Given the description of an element on the screen output the (x, y) to click on. 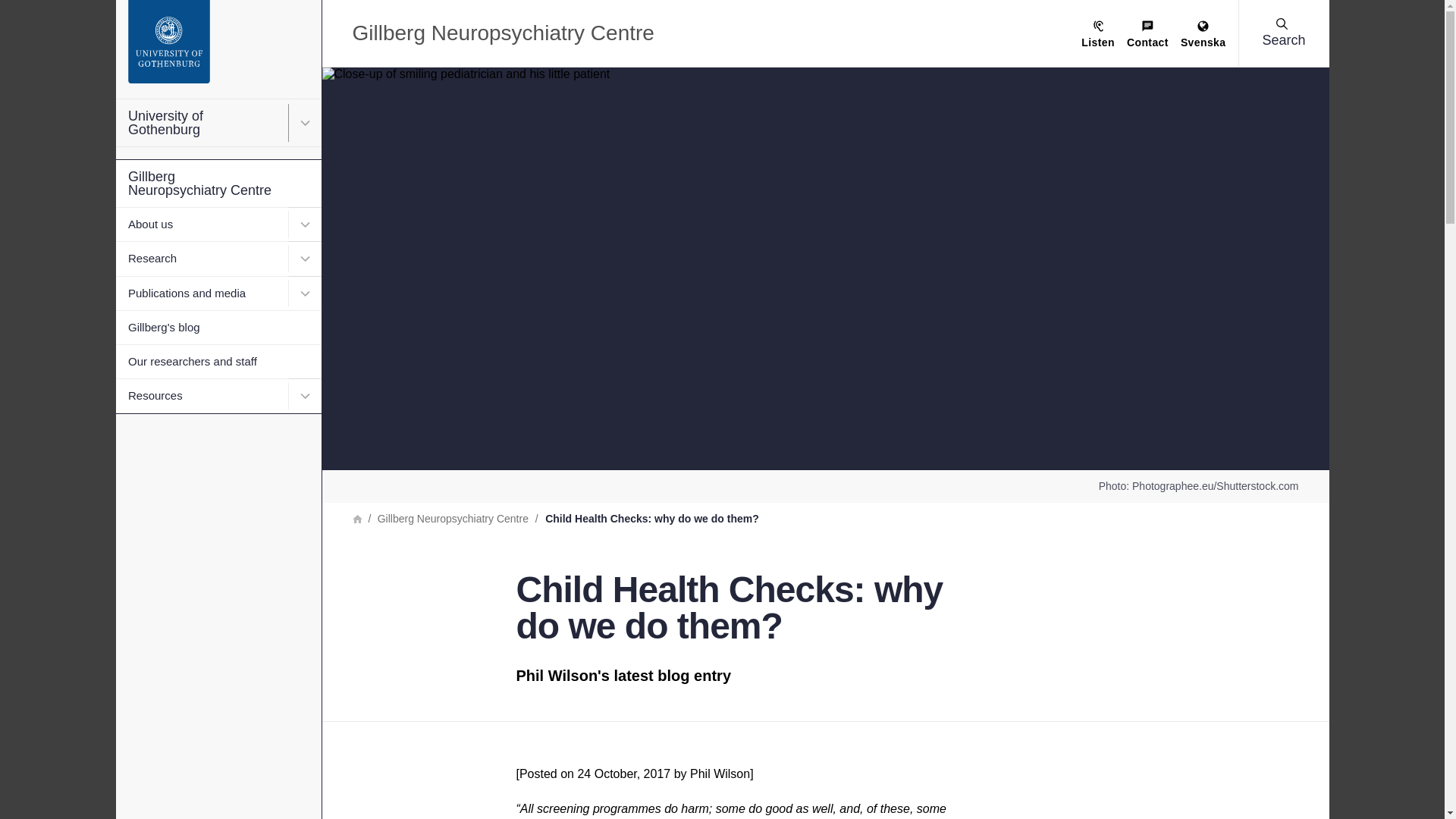
Search function (105, 11)
Publications and media (217, 293)
University of Gothenburg (217, 122)
Listen with ReadSpeaker (1098, 35)
